Given the description of an element on the screen output the (x, y) to click on. 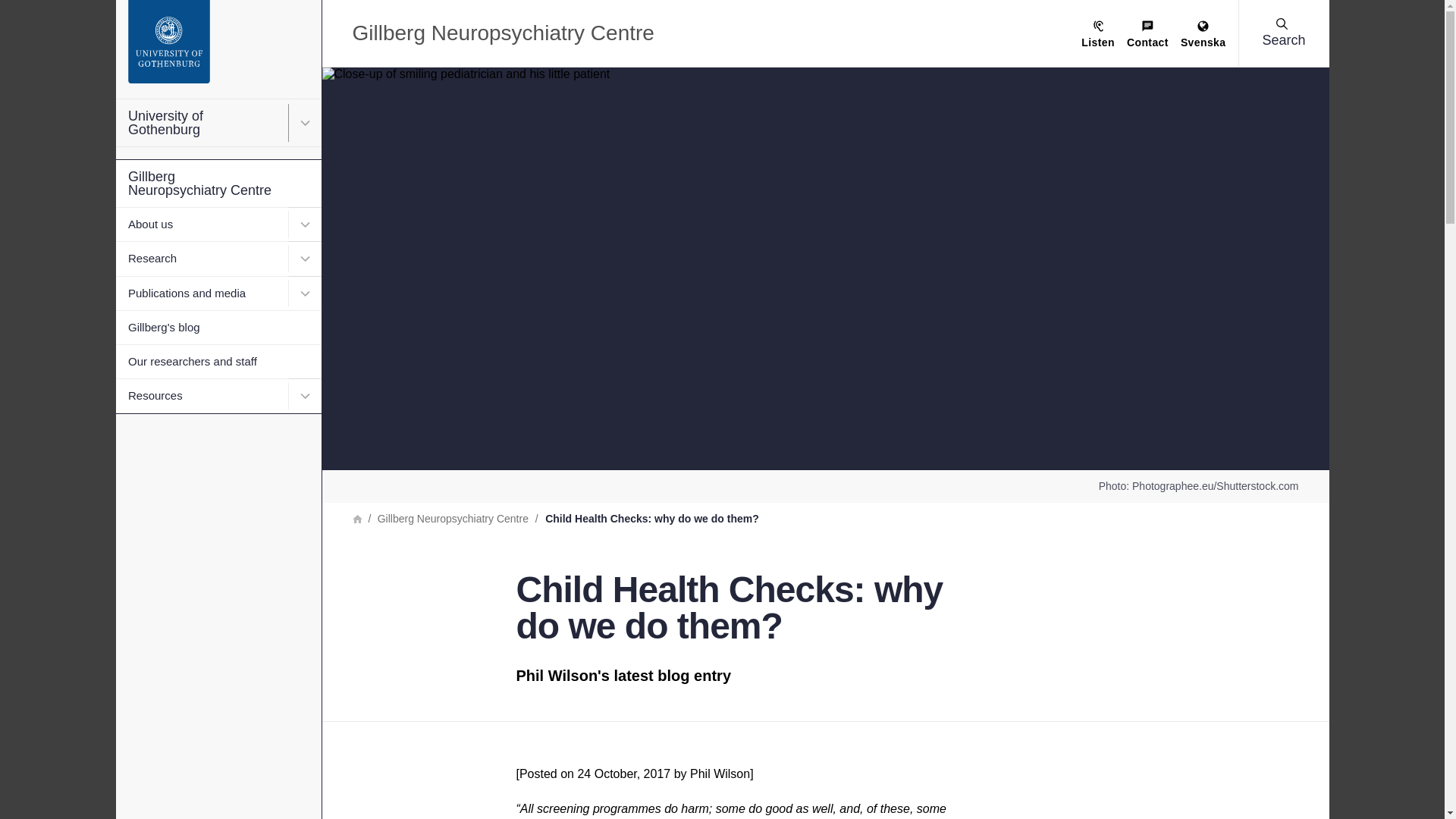
Search function (105, 11)
Publications and media (217, 293)
University of Gothenburg (217, 122)
Listen with ReadSpeaker (1098, 35)
